Given the description of an element on the screen output the (x, y) to click on. 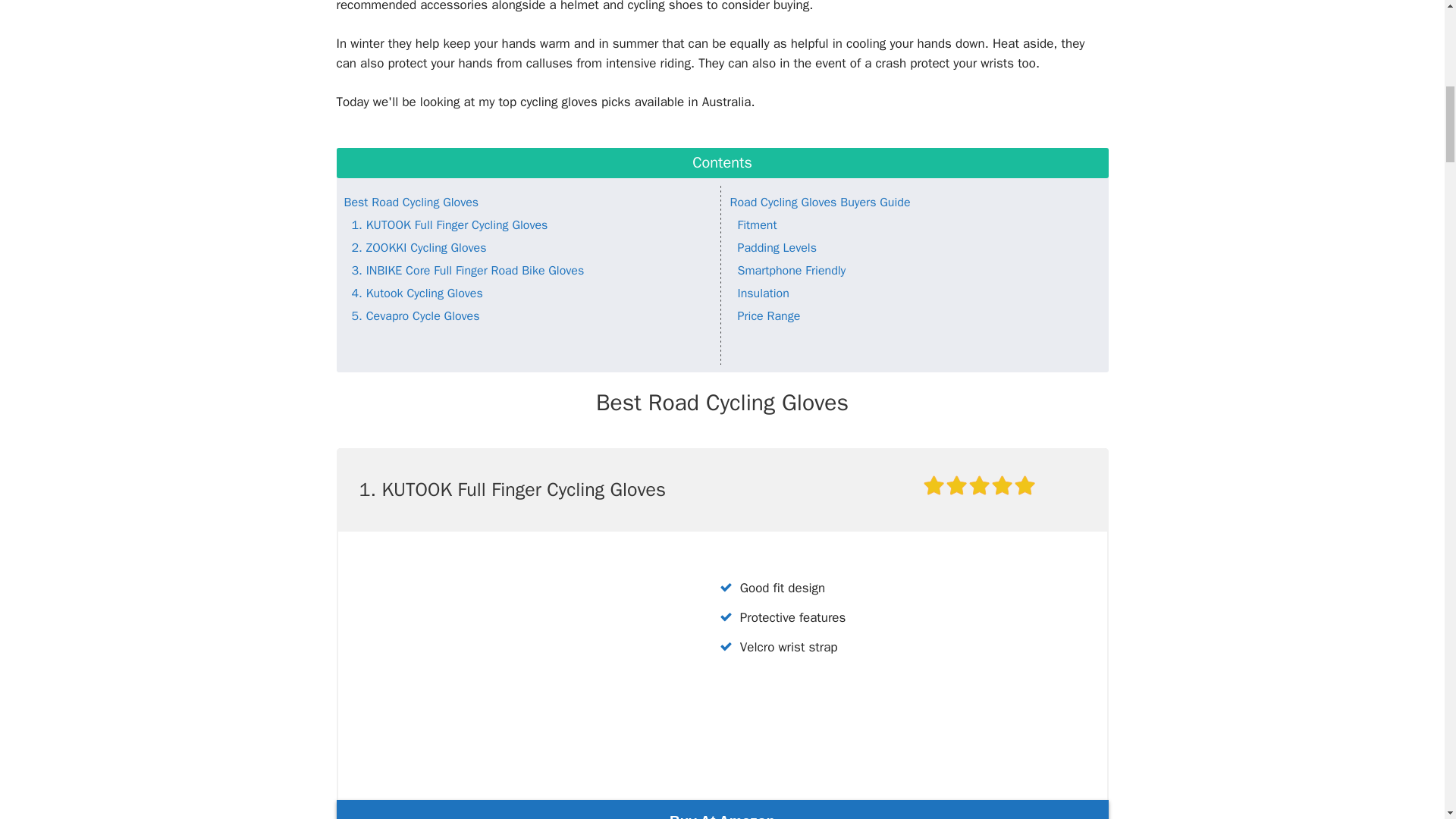
2. ZOOKKI Cycling Gloves (419, 247)
cycle-gloves-1 (512, 659)
4. Kutook Cycling Gloves (417, 293)
Price Range (767, 315)
1. KUTOOK Full Finger Cycling Gloves (450, 224)
5. Cevapro Cycle Gloves (416, 315)
Insulation (762, 293)
Best Road Cycling Gloves (411, 201)
Padding Levels (776, 247)
Buy At Amazon (722, 809)
Fitment (756, 224)
Smartphone Friendly (790, 270)
Road Cycling Gloves Buyers Guide (819, 201)
3. INBIKE Core Full Finger Road Bike Gloves (468, 270)
